Given the description of an element on the screen output the (x, y) to click on. 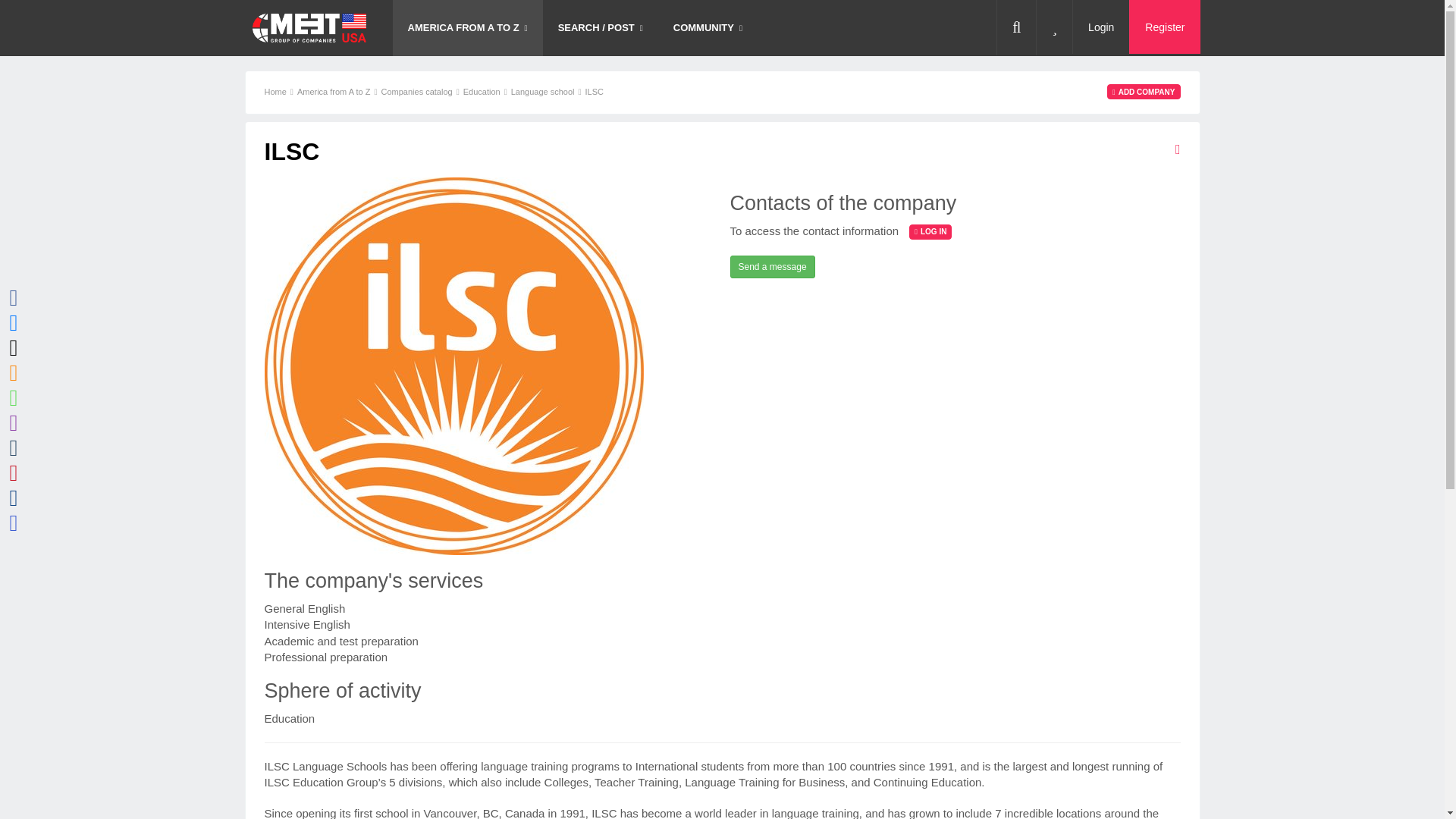
America from A to Z (334, 91)
Main (308, 28)
Companies catalog (415, 91)
Language school (543, 91)
AMERICA FROM A TO Z (468, 28)
Education (481, 91)
